Given the description of an element on the screen output the (x, y) to click on. 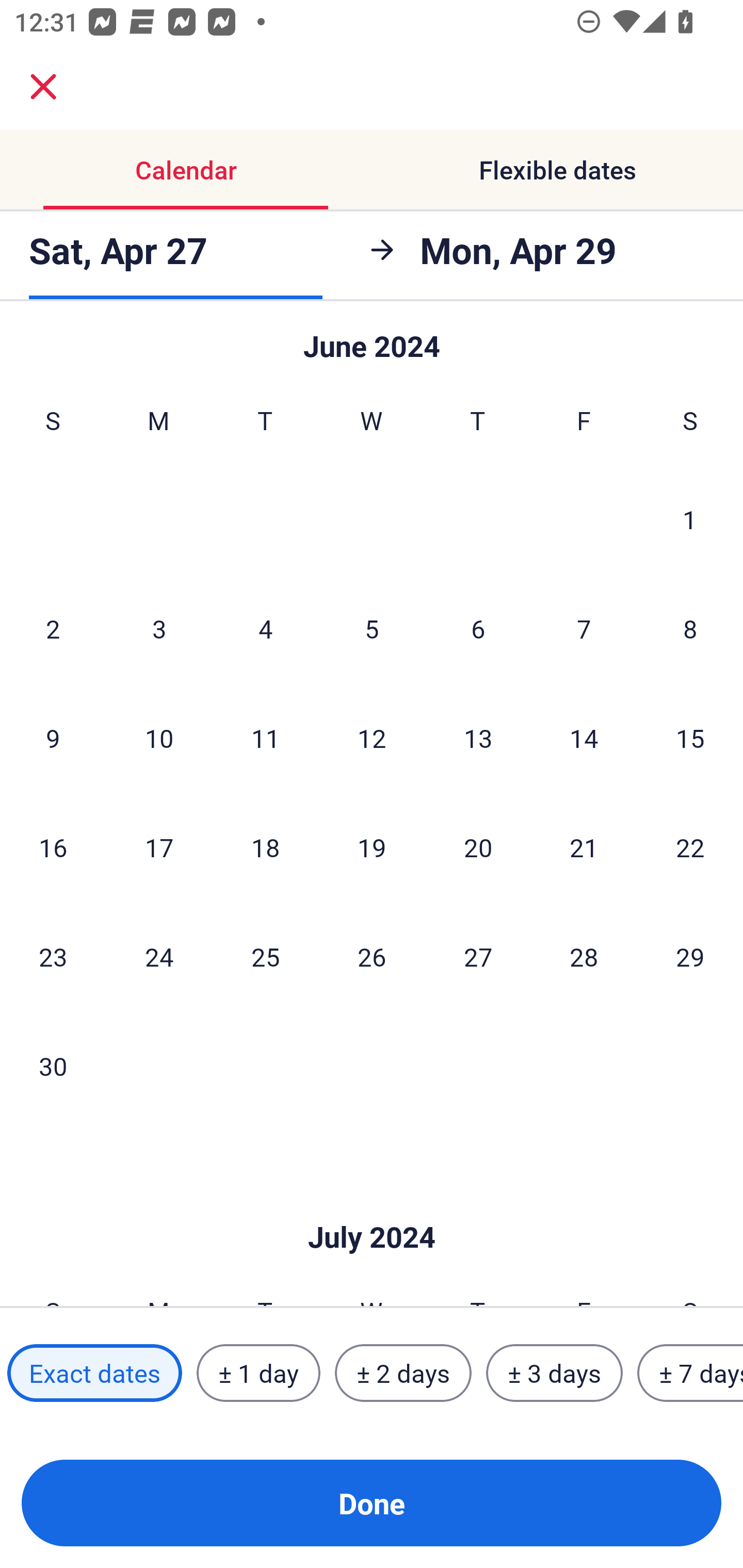
close. (43, 86)
Flexible dates (557, 170)
1 Saturday, June 1, 2024 (689, 518)
2 Sunday, June 2, 2024 (53, 628)
3 Monday, June 3, 2024 (159, 628)
4 Tuesday, June 4, 2024 (265, 628)
5 Wednesday, June 5, 2024 (371, 628)
6 Thursday, June 6, 2024 (477, 628)
7 Friday, June 7, 2024 (584, 628)
8 Saturday, June 8, 2024 (690, 628)
9 Sunday, June 9, 2024 (53, 737)
10 Monday, June 10, 2024 (159, 737)
11 Tuesday, June 11, 2024 (265, 737)
12 Wednesday, June 12, 2024 (371, 737)
13 Thursday, June 13, 2024 (477, 737)
14 Friday, June 14, 2024 (584, 737)
15 Saturday, June 15, 2024 (690, 737)
16 Sunday, June 16, 2024 (53, 847)
17 Monday, June 17, 2024 (159, 847)
18 Tuesday, June 18, 2024 (265, 847)
19 Wednesday, June 19, 2024 (371, 847)
20 Thursday, June 20, 2024 (477, 847)
21 Friday, June 21, 2024 (584, 847)
22 Saturday, June 22, 2024 (690, 847)
23 Sunday, June 23, 2024 (53, 956)
24 Monday, June 24, 2024 (159, 956)
25 Tuesday, June 25, 2024 (265, 956)
26 Wednesday, June 26, 2024 (371, 956)
27 Thursday, June 27, 2024 (477, 956)
28 Friday, June 28, 2024 (584, 956)
29 Saturday, June 29, 2024 (690, 956)
30 Sunday, June 30, 2024 (53, 1064)
Skip to Done (371, 1206)
Exact dates (94, 1372)
± 1 day (258, 1372)
± 2 days (403, 1372)
± 3 days (553, 1372)
± 7 days (690, 1372)
Done (371, 1502)
